Given the description of an element on the screen output the (x, y) to click on. 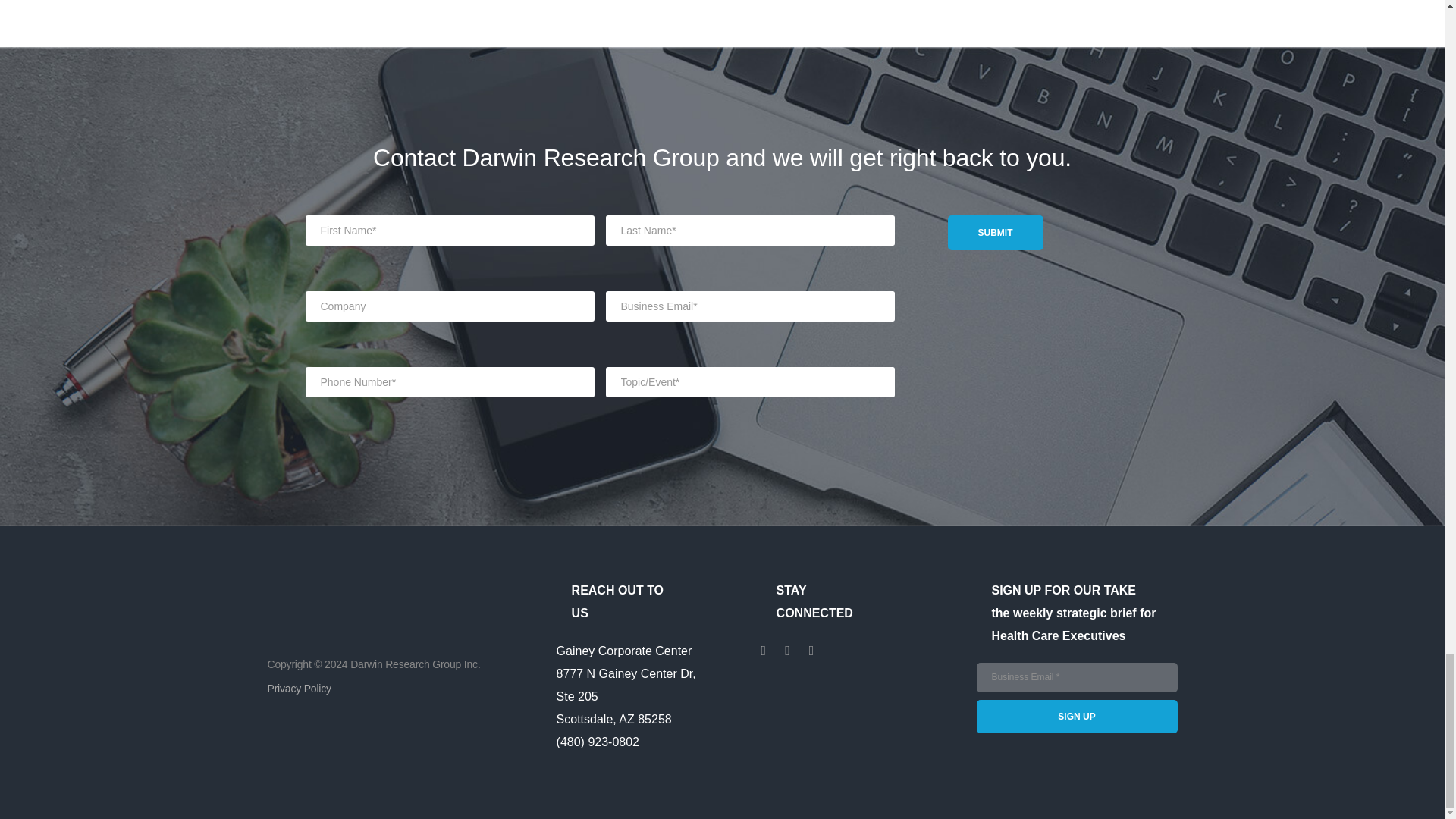
Privacy Policy (298, 688)
Submit (995, 232)
Sign Up (1076, 716)
Submit (995, 232)
Sign Up (1076, 716)
